Given the description of an element on the screen output the (x, y) to click on. 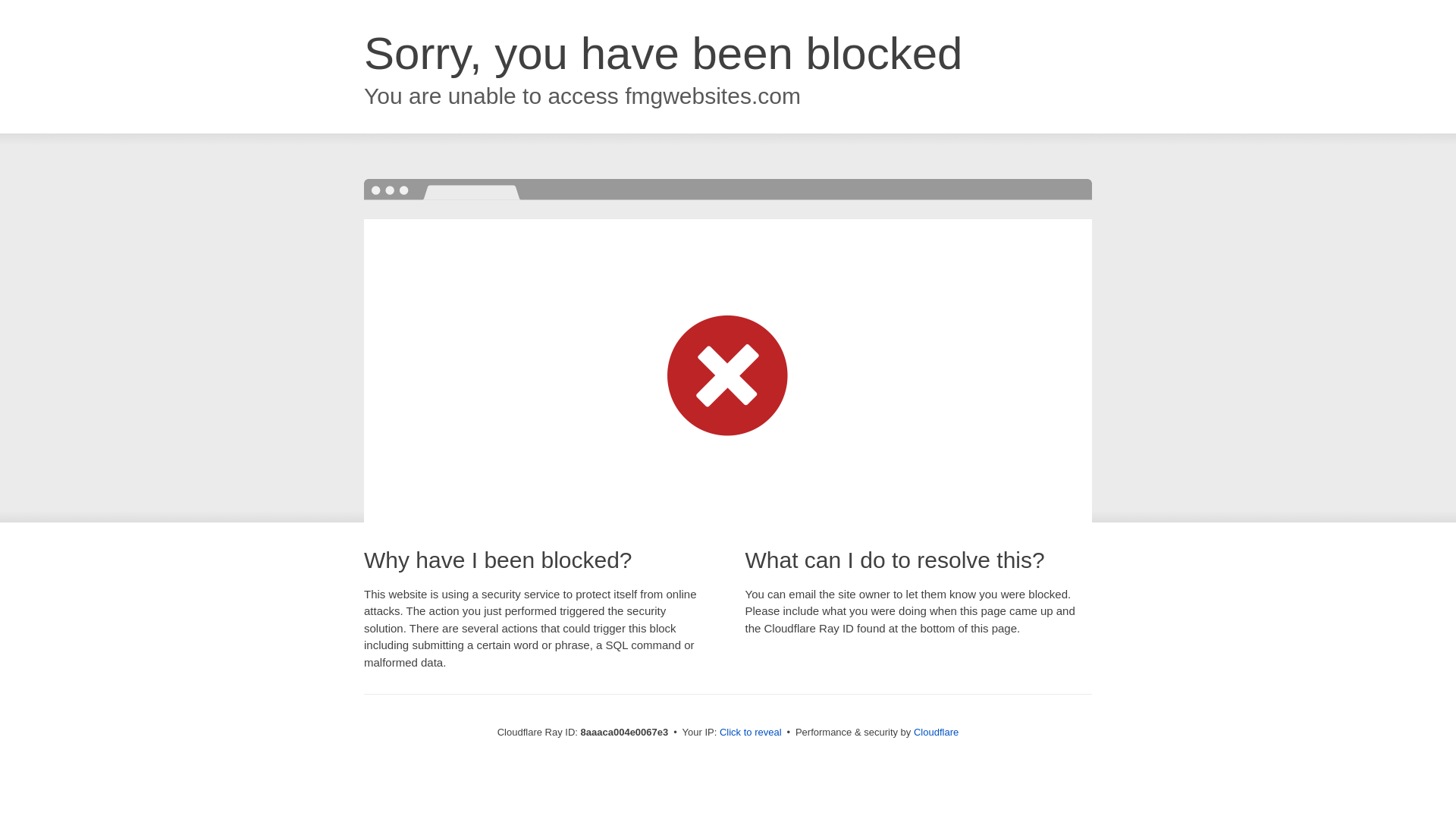
Cloudflare (936, 731)
Click to reveal (750, 732)
